Given the description of an element on the screen output the (x, y) to click on. 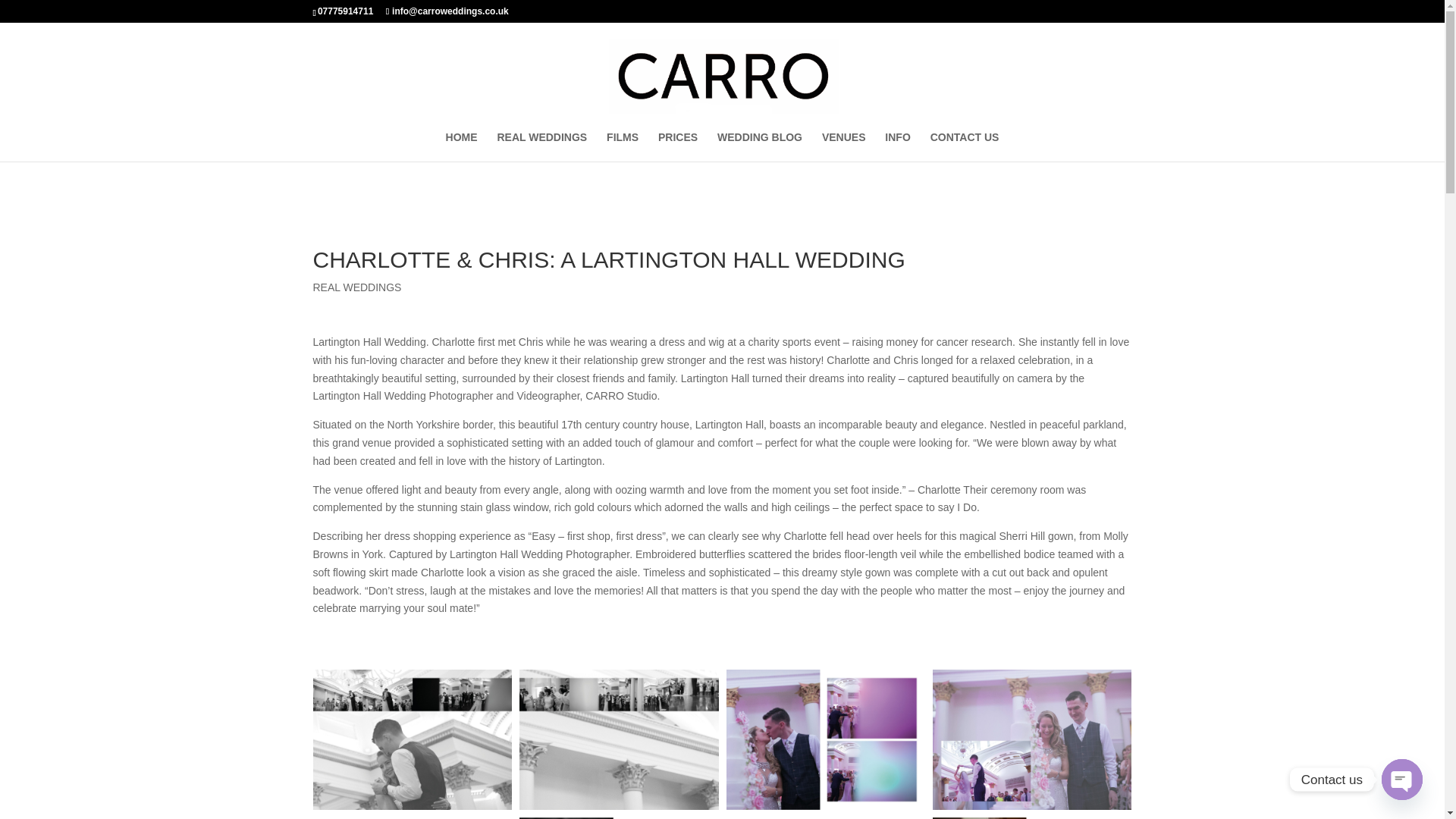
INFO (897, 146)
WEDDING BLOG (759, 146)
VENUES (844, 146)
FILMS (623, 146)
HOME (461, 146)
CONTACT US (964, 146)
PRICES (677, 146)
REAL WEDDINGS (357, 287)
